Given the description of an element on the screen output the (x, y) to click on. 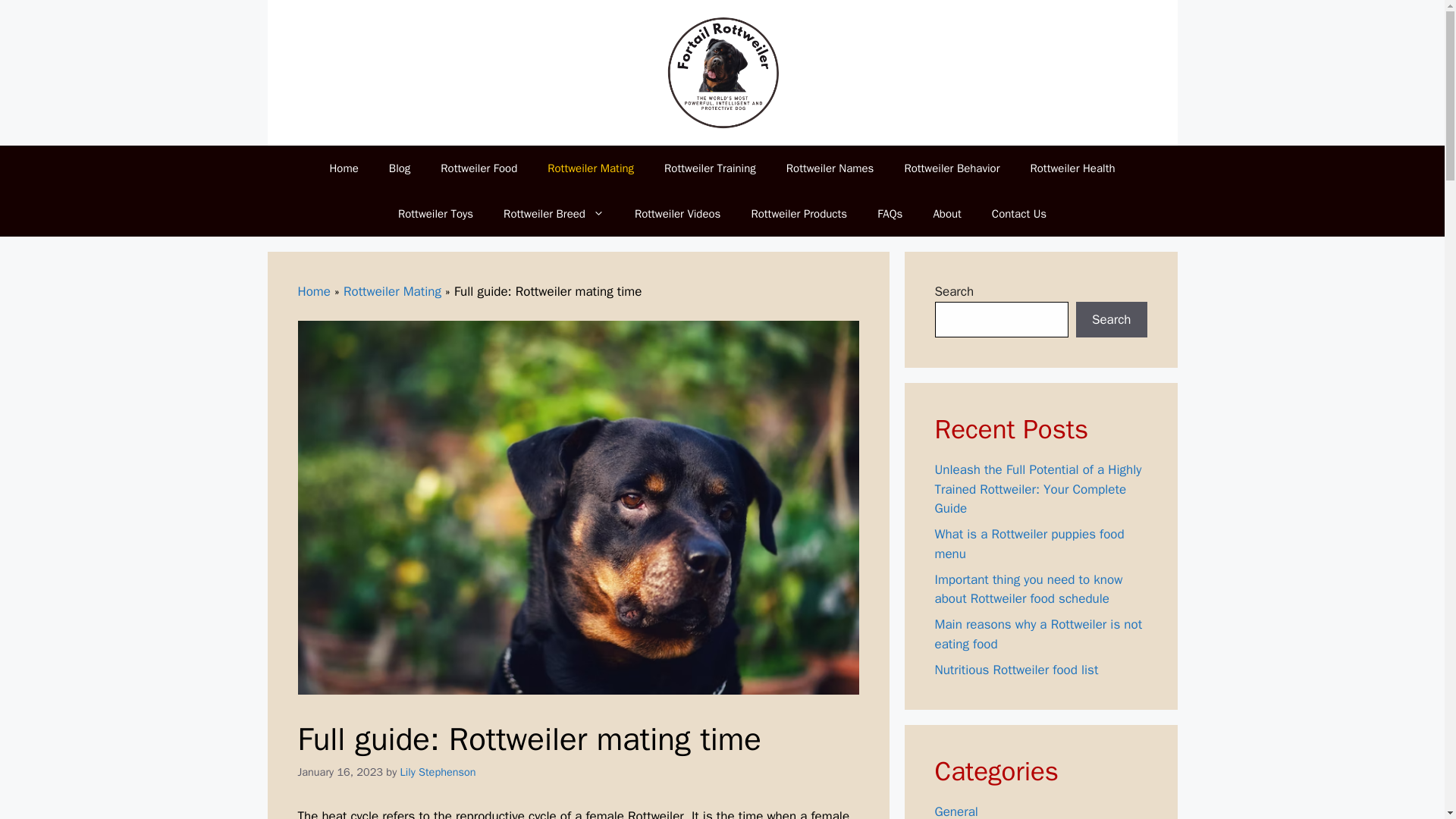
Home (343, 167)
Blog (399, 167)
Rottweiler Training (710, 167)
Rottweiler Health (1071, 167)
View all posts by Lily Stephenson (438, 771)
Rottweiler Names (830, 167)
Rottweiler Products (798, 213)
Rottweiler Food (478, 167)
Rottweiler Mating (590, 167)
Rottweiler Mating (392, 291)
